Given the description of an element on the screen output the (x, y) to click on. 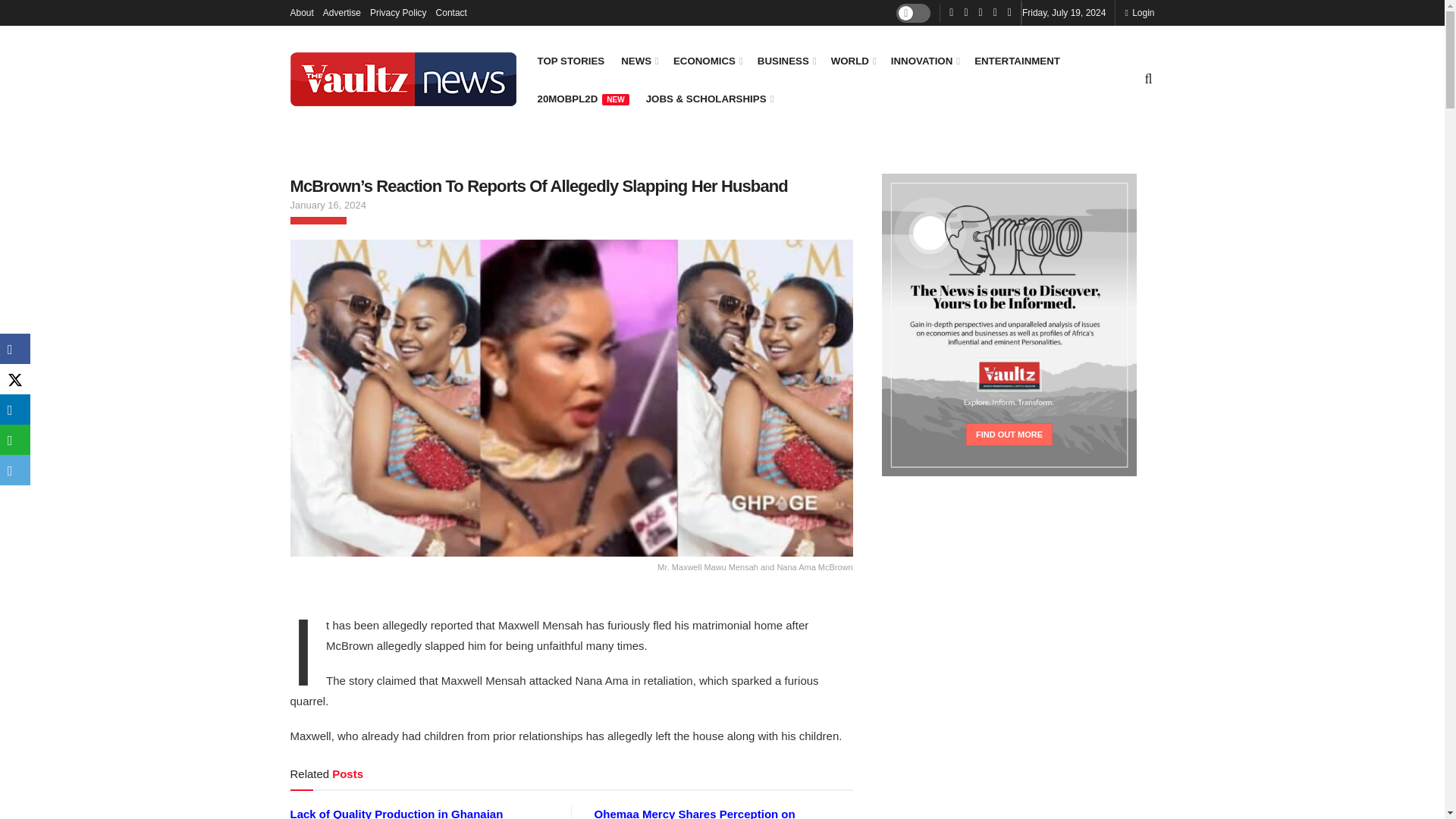
INNOVATION (924, 60)
ECONOMICS (706, 60)
About (301, 12)
WORLD (853, 60)
TOP STORIES (570, 60)
Login (1139, 12)
Contact (451, 12)
BUSINESS (785, 60)
NEWS (638, 60)
Advertise (342, 12)
Privacy Policy (397, 12)
